Given the description of an element on the screen output the (x, y) to click on. 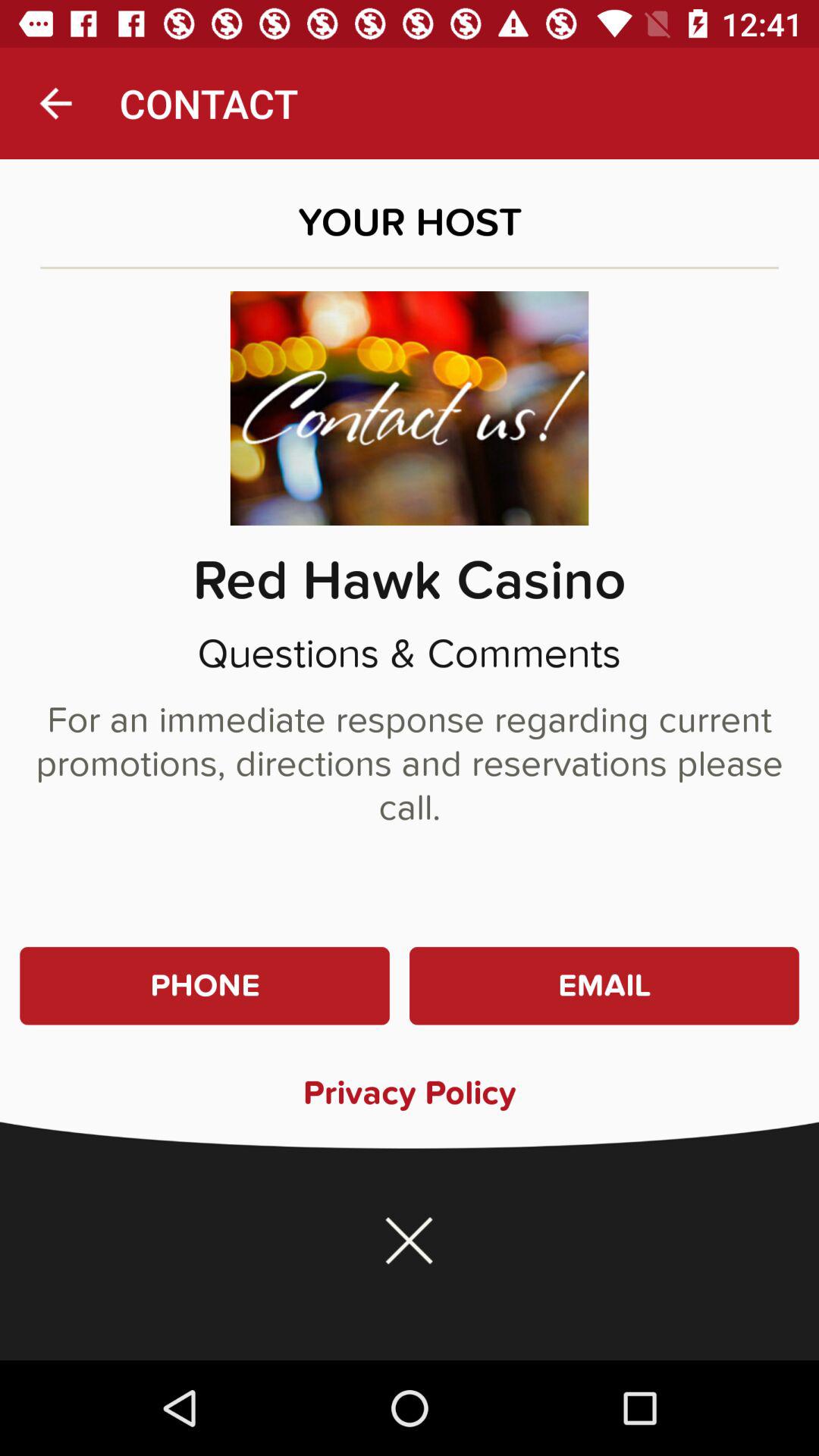
choose the icon next to contact icon (55, 103)
